Given the description of an element on the screen output the (x, y) to click on. 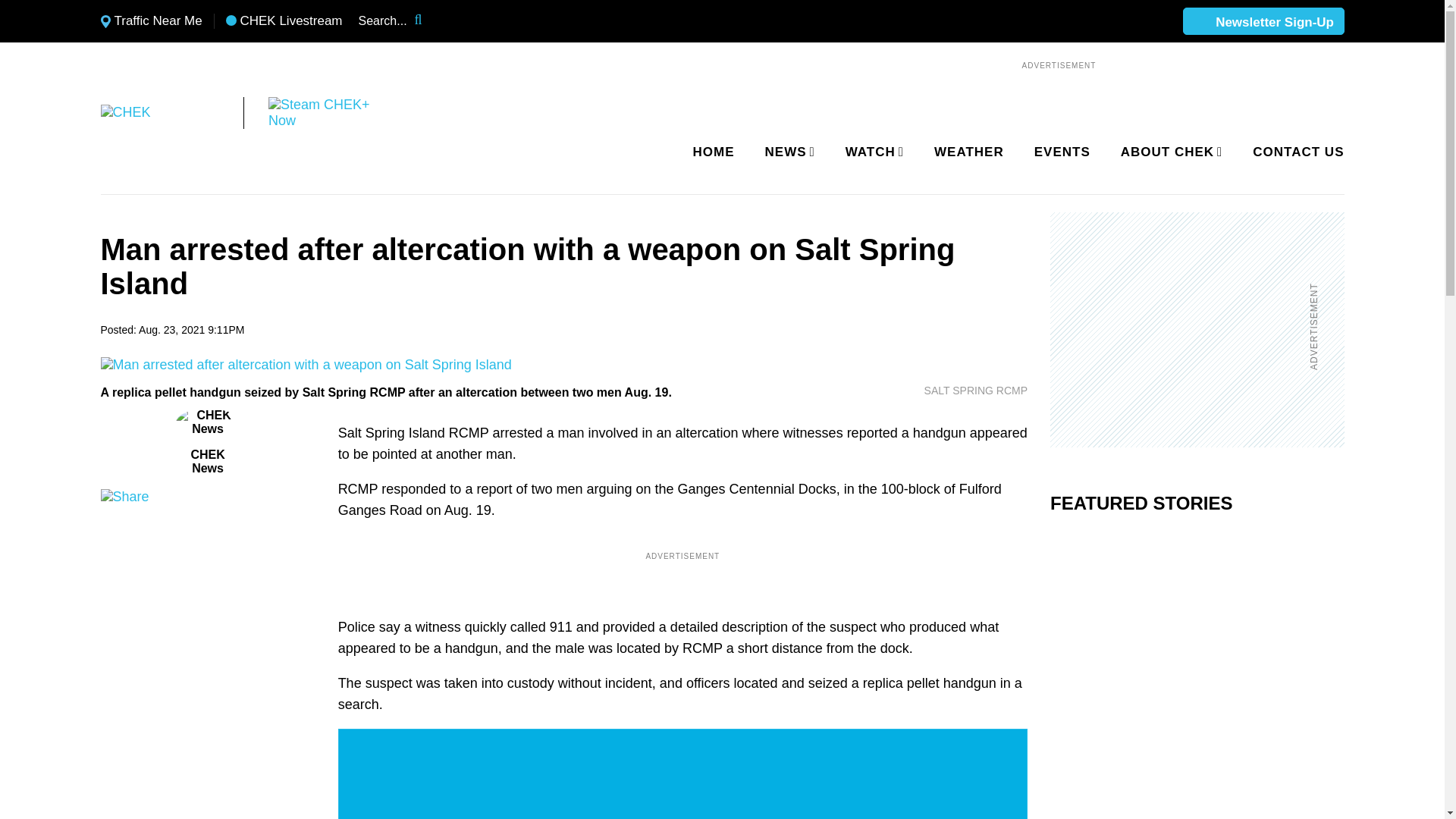
Traffic Near Me (151, 20)
Newsletter Sign-Up (1262, 22)
Search (428, 21)
CHEK Livestream (283, 20)
HOME (714, 152)
NEWS (787, 152)
